Given the description of an element on the screen output the (x, y) to click on. 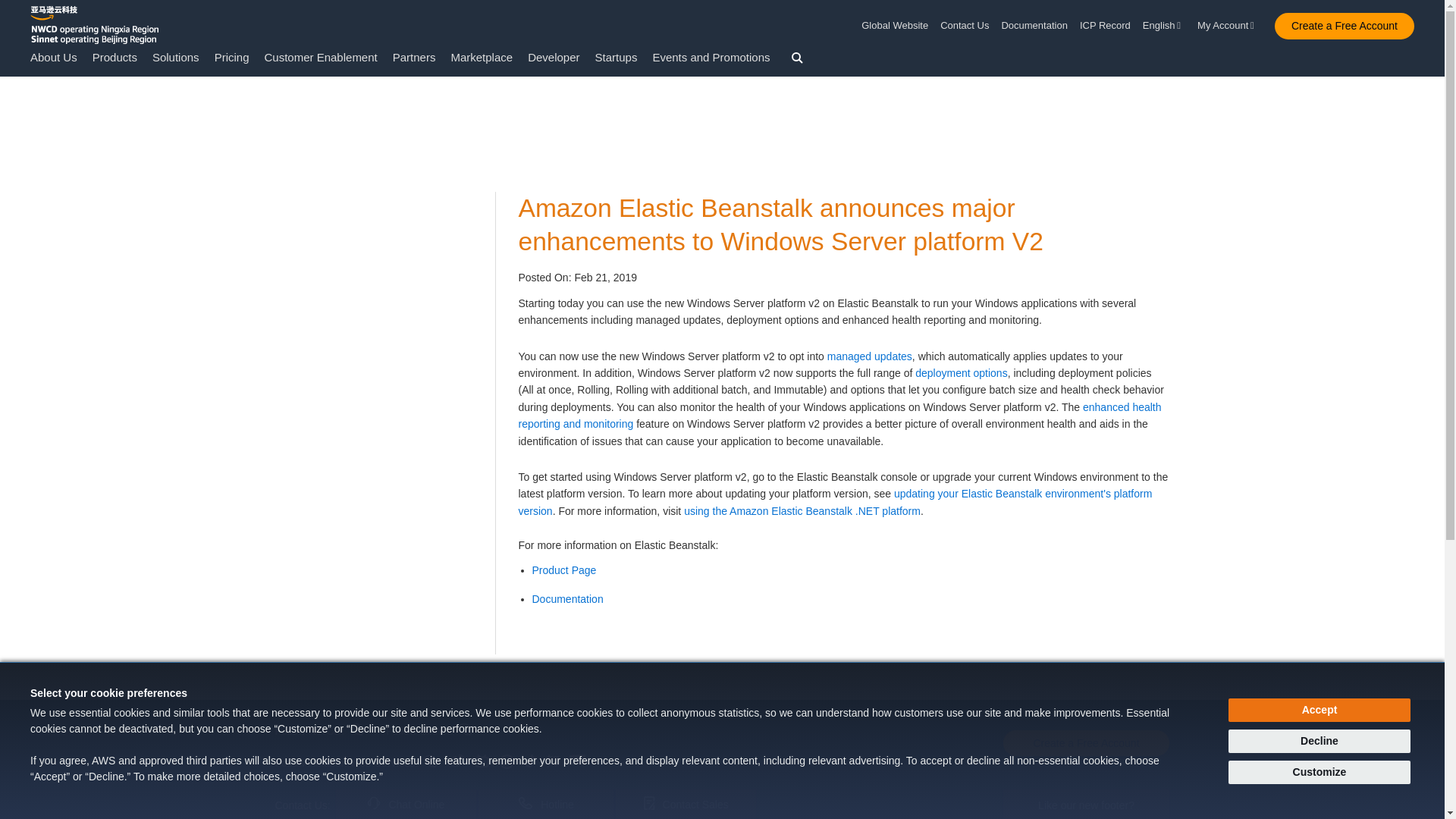
Partners (414, 56)
WeChat public account (430, 761)
Skip to main content (7, 105)
Developer (553, 56)
Solutions (175, 56)
Accept (1319, 709)
Global Website (897, 26)
Create a Free Account (1344, 25)
Applets (506, 761)
ICP Record (1105, 26)
English  (1164, 26)
Contact Us (964, 26)
Events and Promotions (711, 56)
Startups (616, 56)
My Account  (1228, 26)
